Given the description of an element on the screen output the (x, y) to click on. 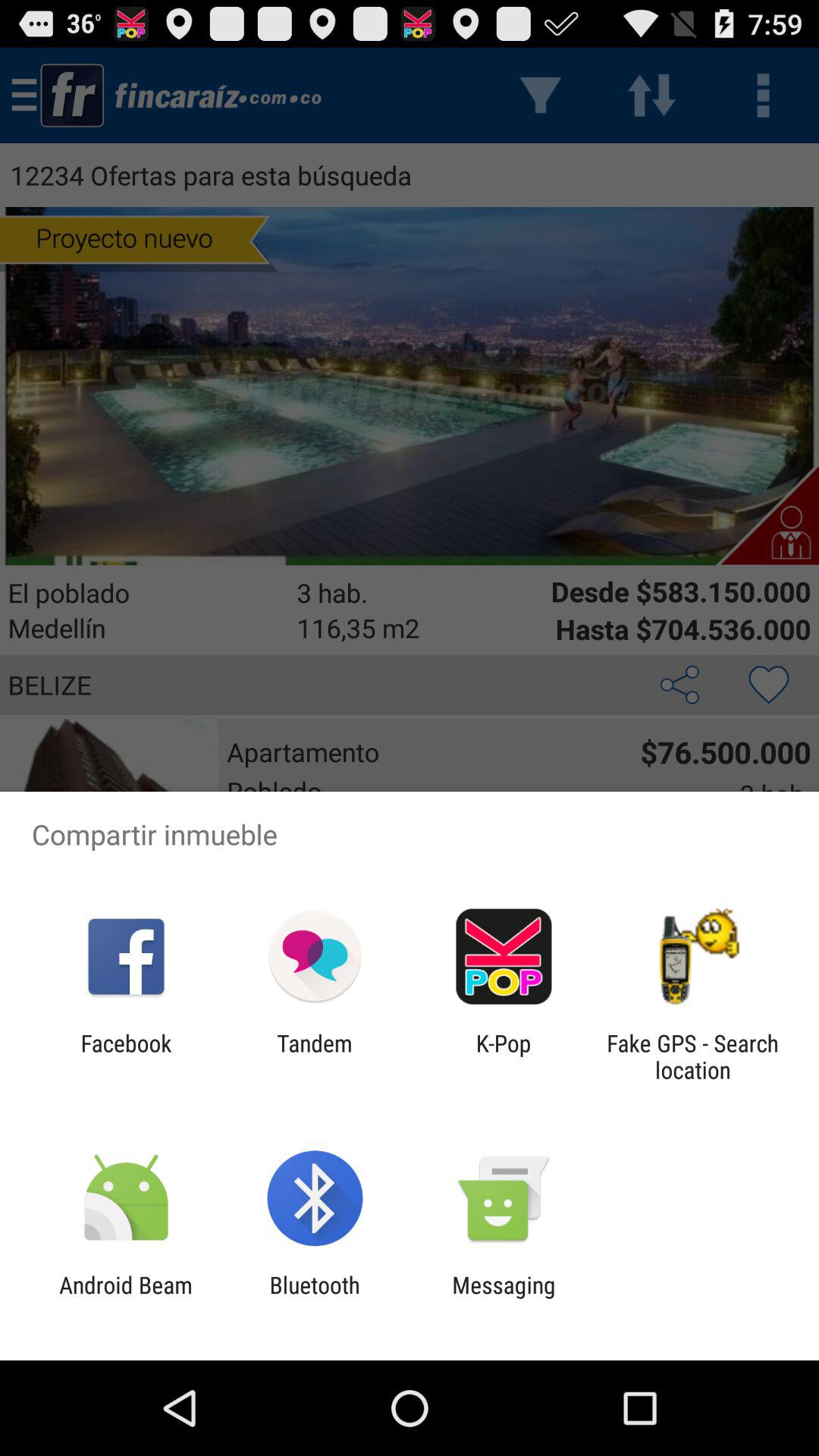
press the item next to the tandem icon (125, 1056)
